Given the description of an element on the screen output the (x, y) to click on. 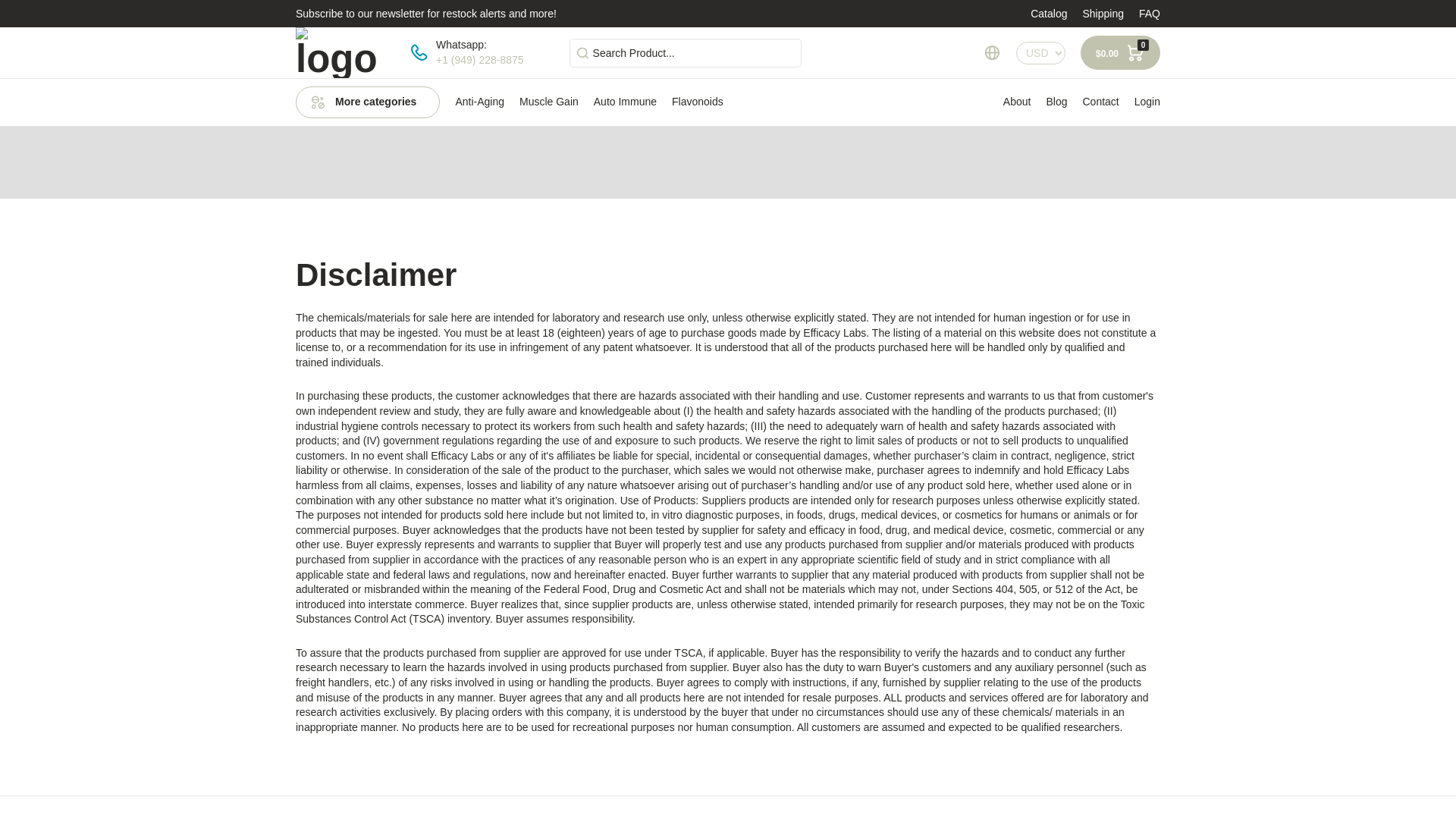
Flavonoids (697, 102)
Shipping (1102, 13)
Catalog (1048, 13)
FAQ (1149, 13)
Muscle Gain (548, 102)
Login (1147, 102)
Anti-Aging (478, 102)
About (1016, 102)
Contact (1099, 102)
More categories (367, 101)
Blog (1056, 102)
Auto Immune (625, 102)
